Given the description of an element on the screen output the (x, y) to click on. 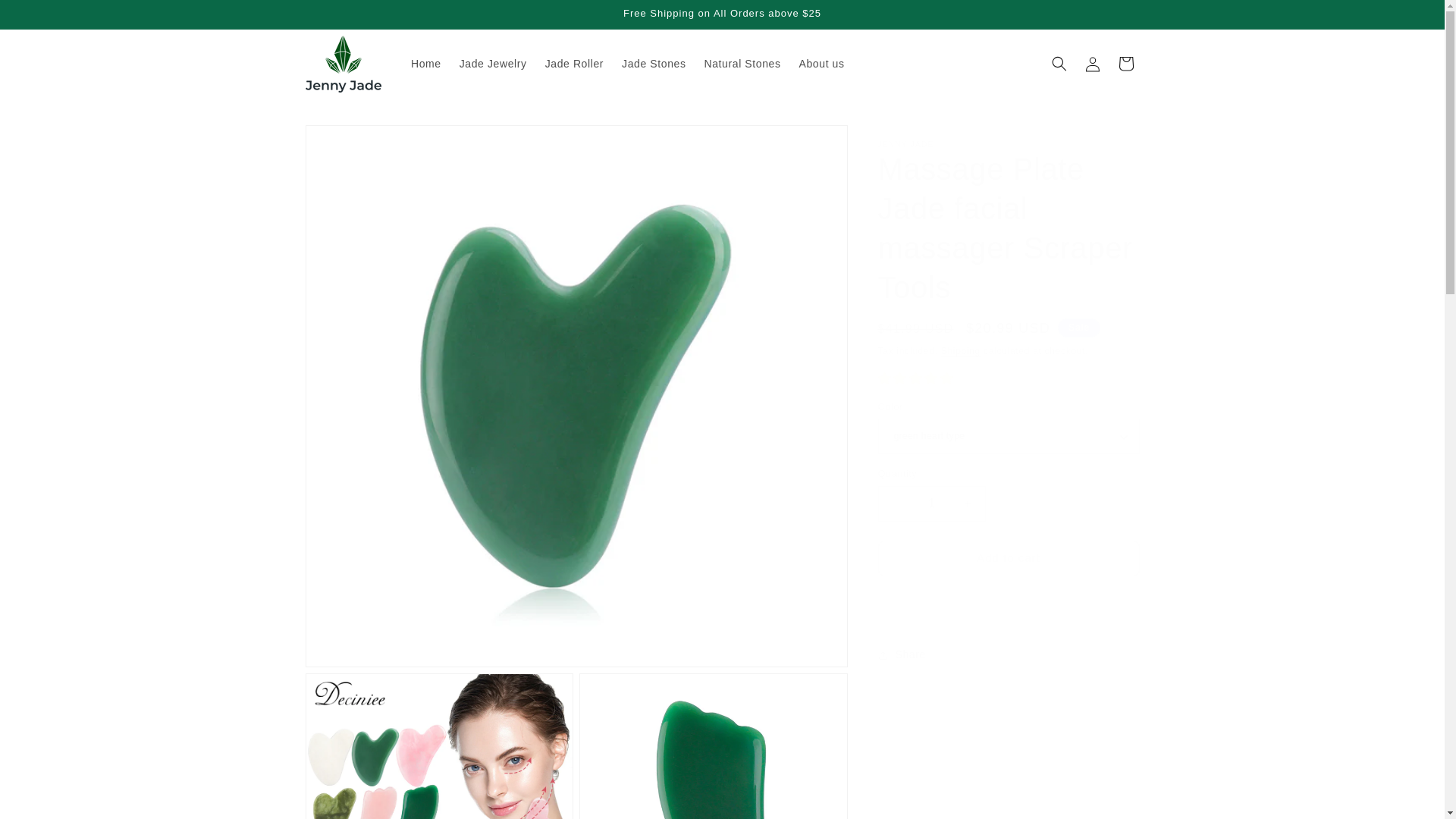
Jade Roller (573, 63)
Home (425, 63)
Add to cart (1008, 558)
Jade Stones (653, 63)
1 (931, 503)
Open media 3 in modal (713, 746)
Jade Jewelry (492, 63)
Natural Stones (742, 63)
